Given the description of an element on the screen output the (x, y) to click on. 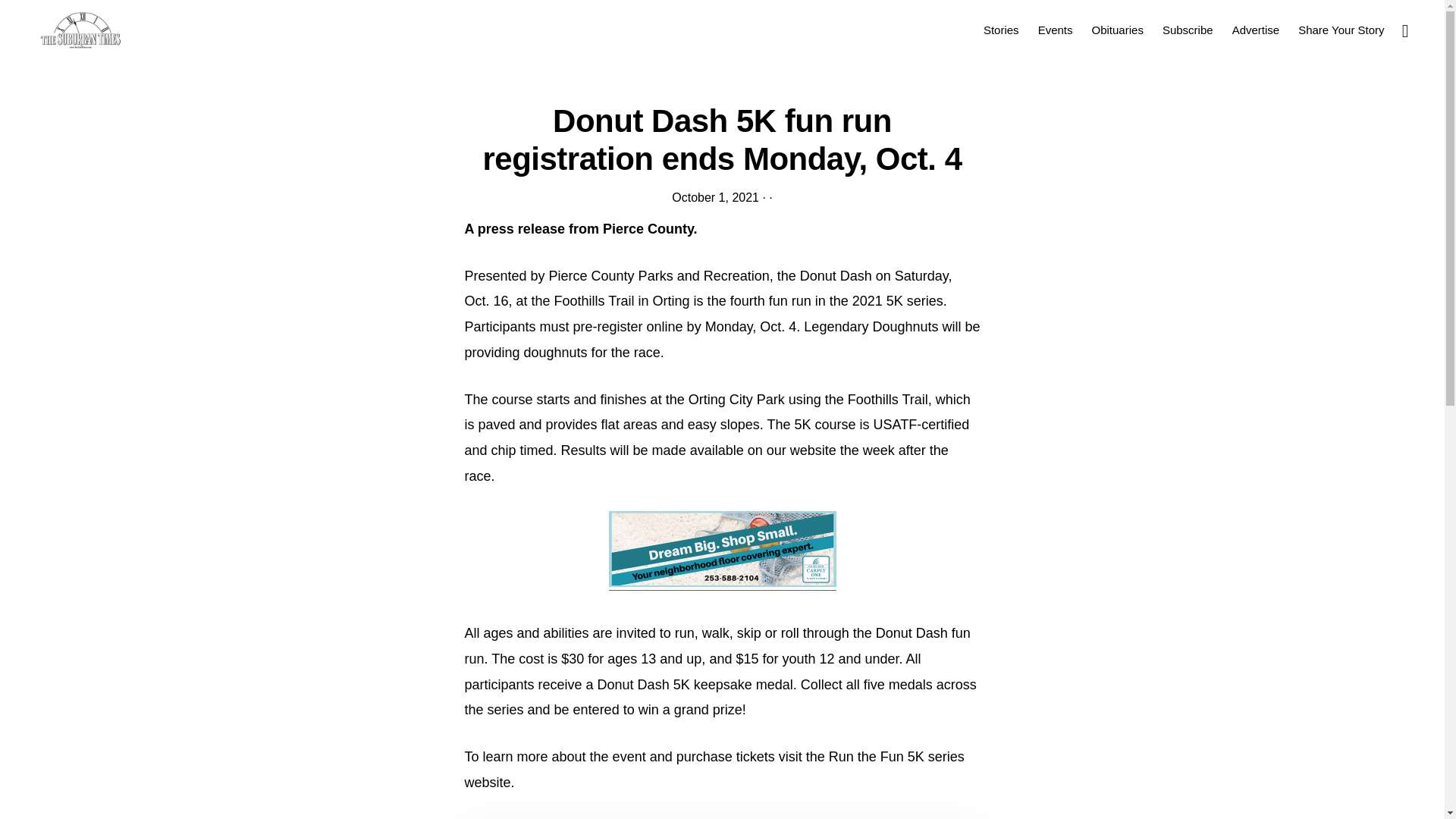
Advertise (1255, 29)
Log in (815, 748)
PRIVACY POLICY (862, 775)
ADVERTISE (526, 775)
ABOUT TST (452, 775)
Share Your Story (1340, 29)
Obituaries (1117, 29)
Stories (1000, 29)
Subscribe (1187, 29)
CONTACT (704, 775)
SUBSCRIBE (773, 775)
Events (1055, 29)
COMMENT POLICY (616, 775)
